Given the description of an element on the screen output the (x, y) to click on. 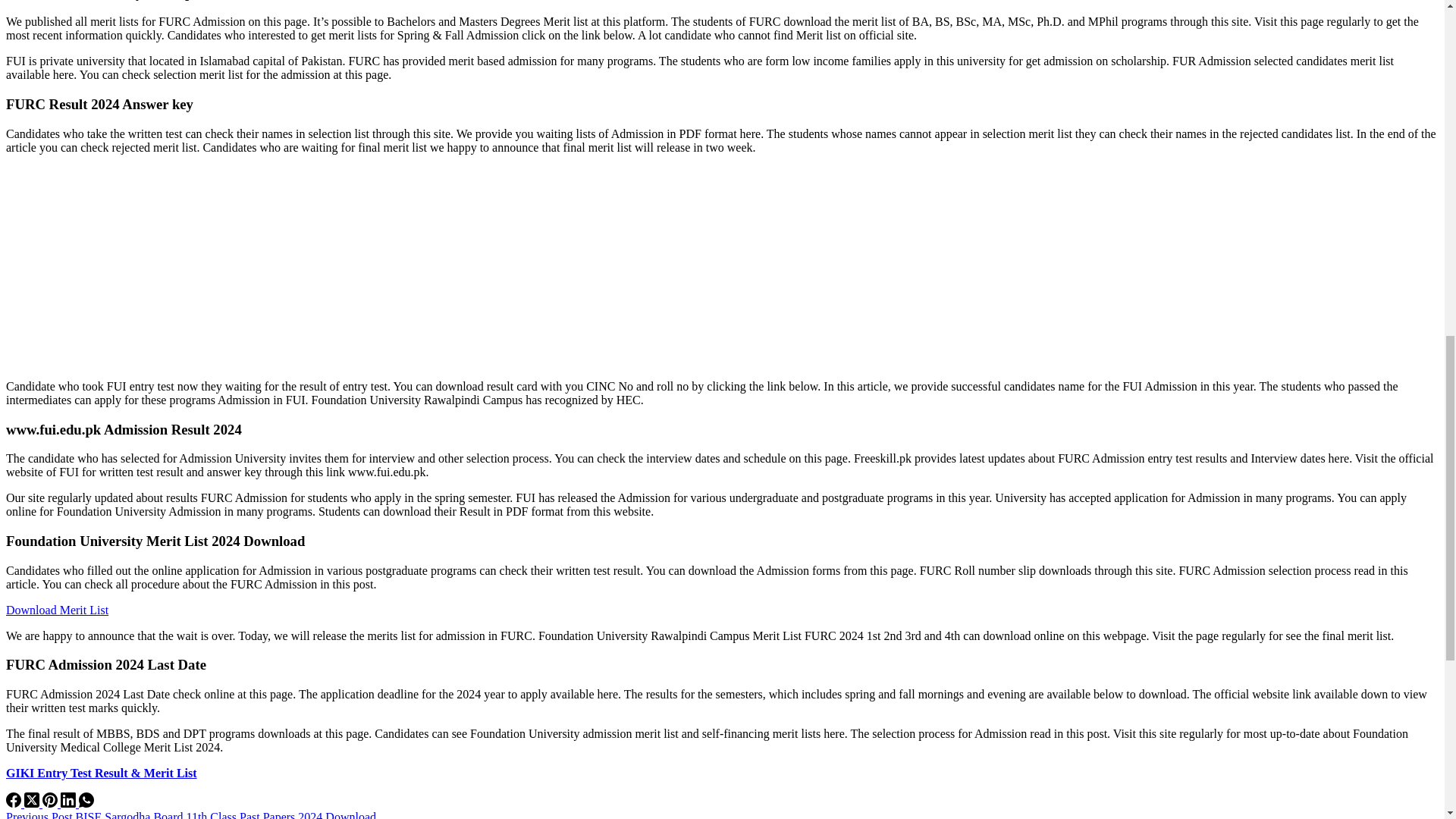
Download Merit List (56, 609)
